Given the description of an element on the screen output the (x, y) to click on. 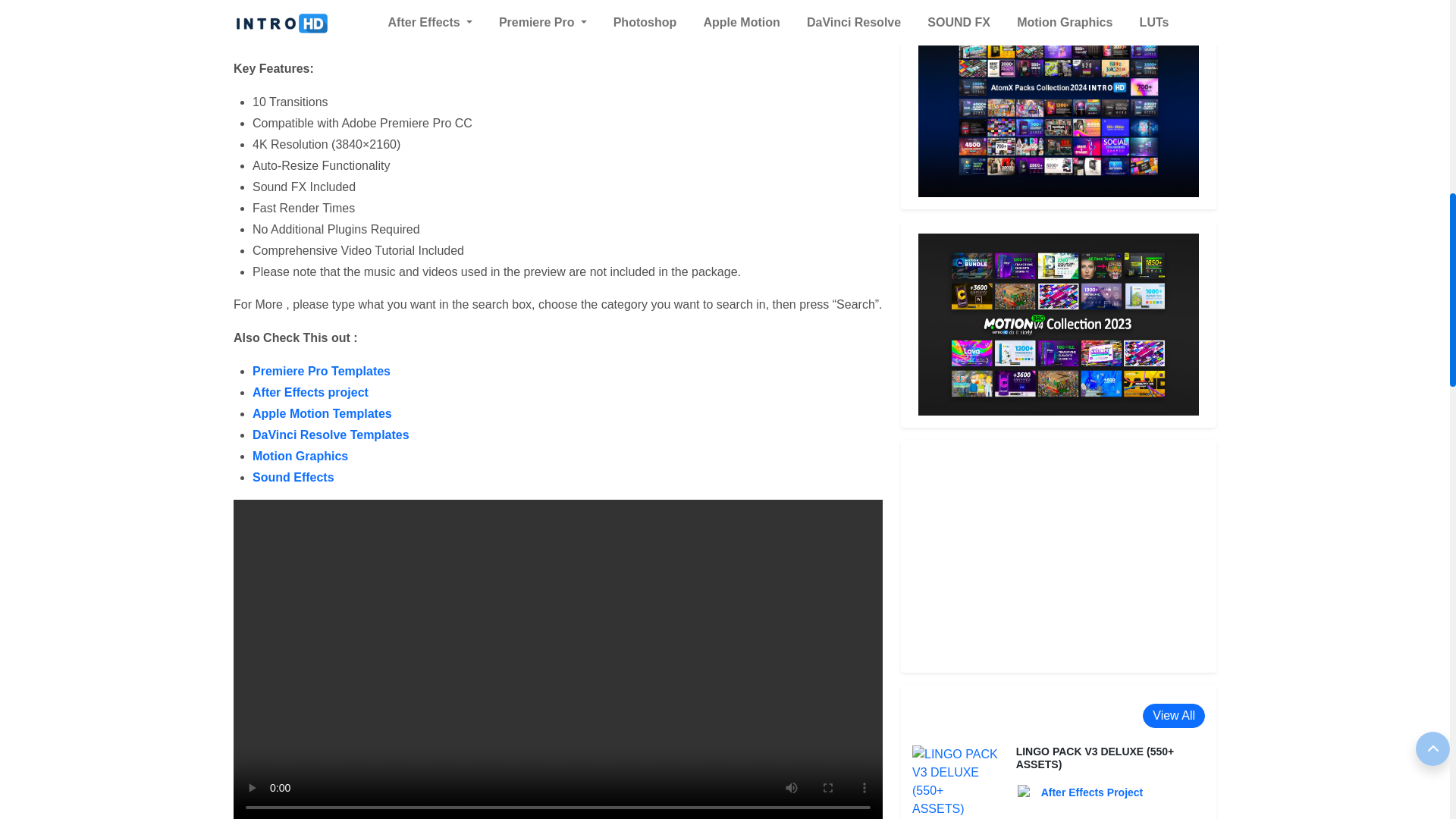
DaVinci Resolve Templates (330, 434)
Premiere Pro Templates (320, 370)
Apple Motion Templates (321, 413)
After Effects project (309, 391)
Motion Graphics (299, 455)
Sound Effects (292, 477)
